Given the description of an element on the screen output the (x, y) to click on. 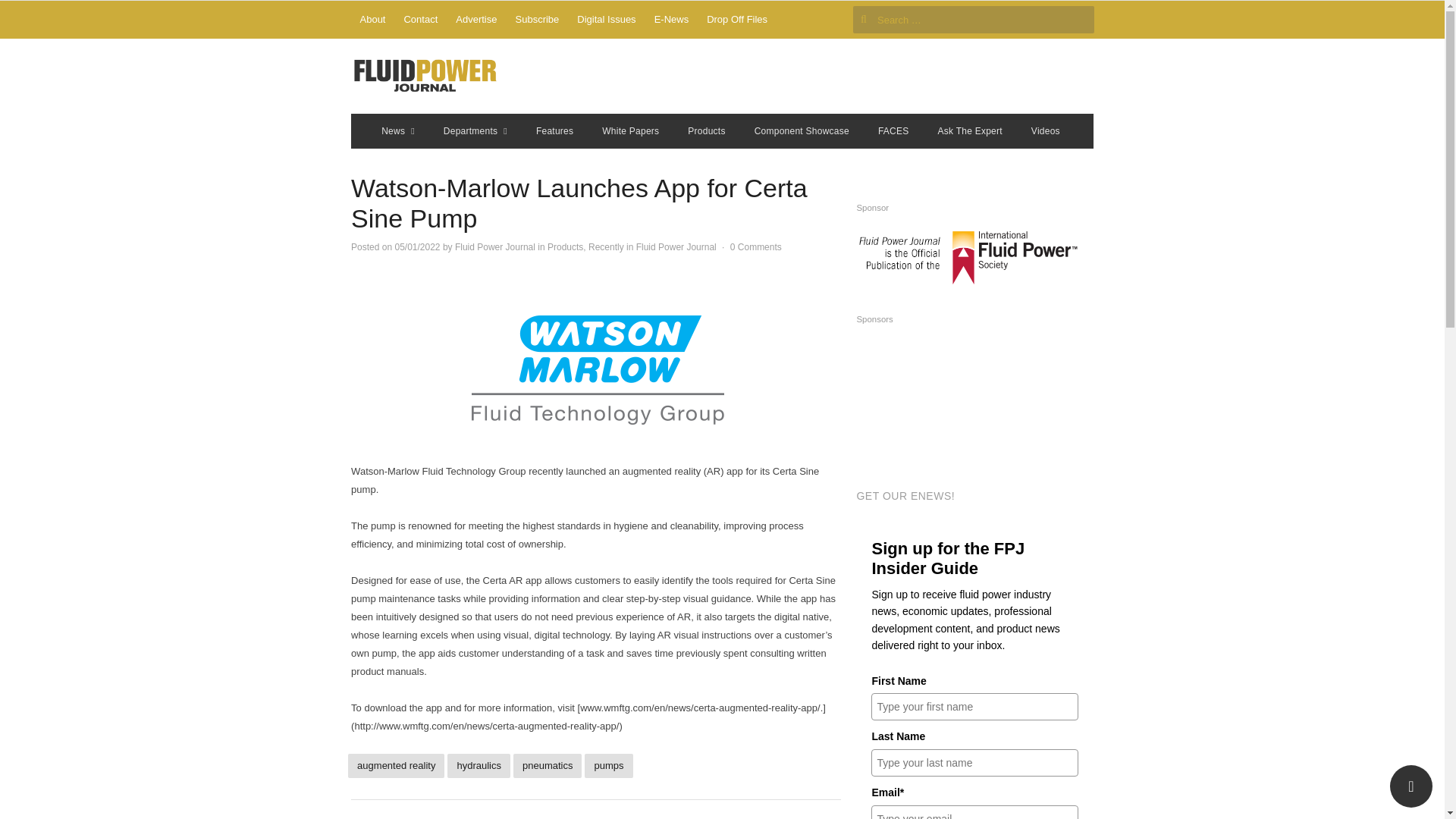
Fluid Power Journal (424, 75)
Digital Issues (606, 19)
About (372, 19)
Drop Off Files (736, 19)
E-News (671, 19)
06:00 (416, 246)
Search (27, 13)
View all posts by Fluid Power Journal (494, 246)
Advertise (475, 19)
Subscribe (537, 19)
